Given the description of an element on the screen output the (x, y) to click on. 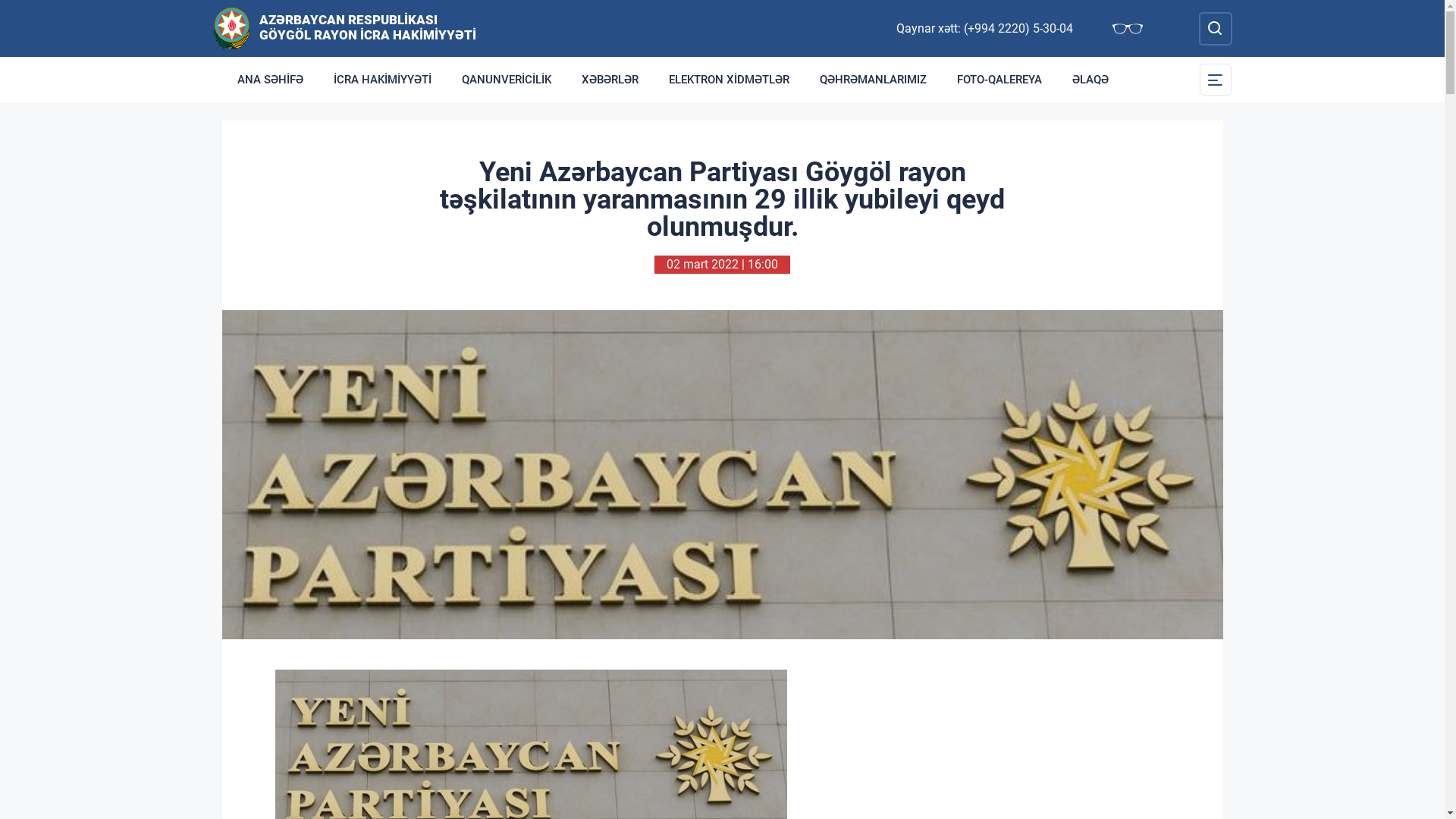
QANUNVERICILIK Element type: text (505, 79)
FOTO-QALEREYA Element type: text (999, 79)
